Given the description of an element on the screen output the (x, y) to click on. 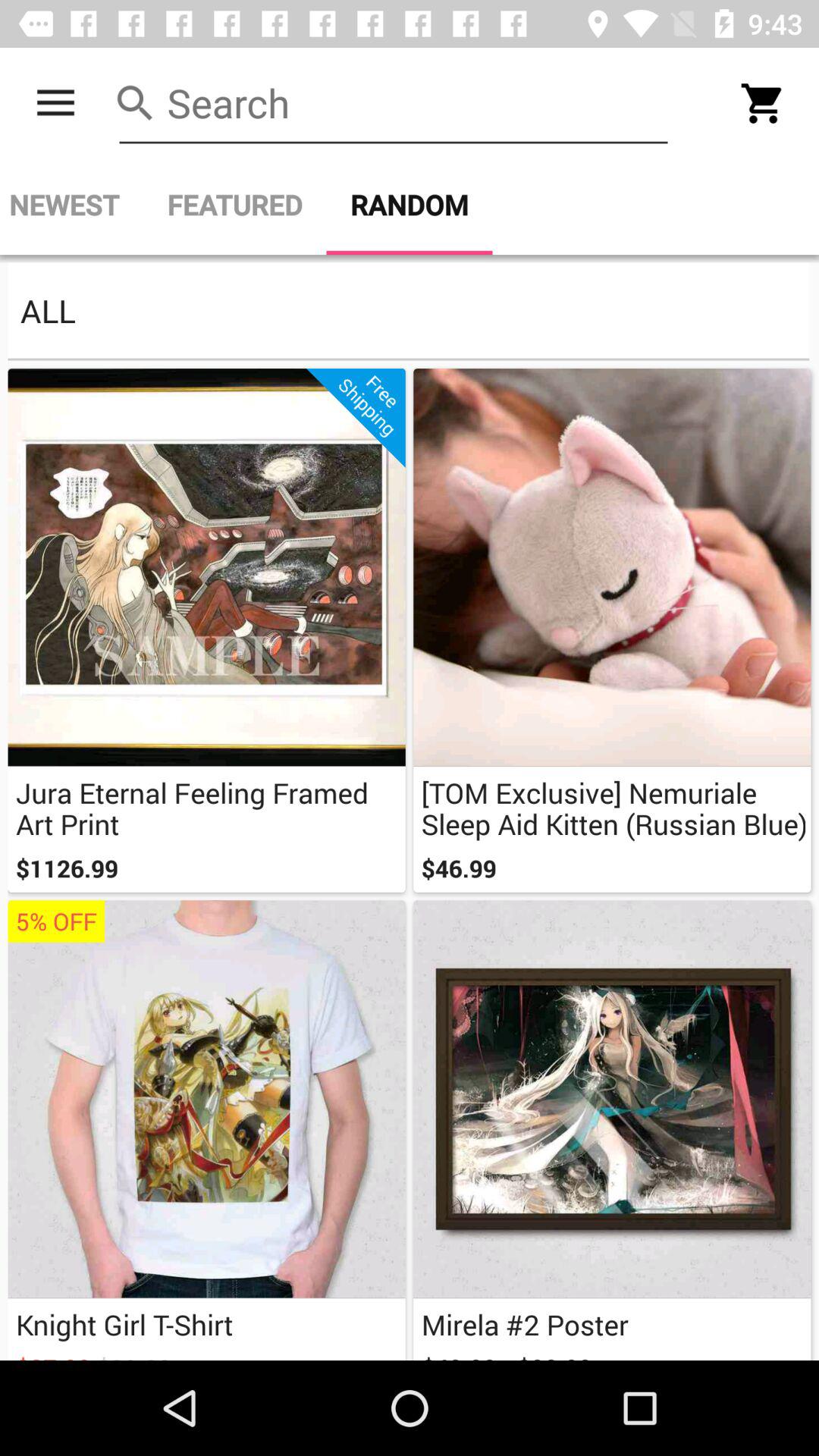
open icon to the left of the random item (234, 204)
